Given the description of an element on the screen output the (x, y) to click on. 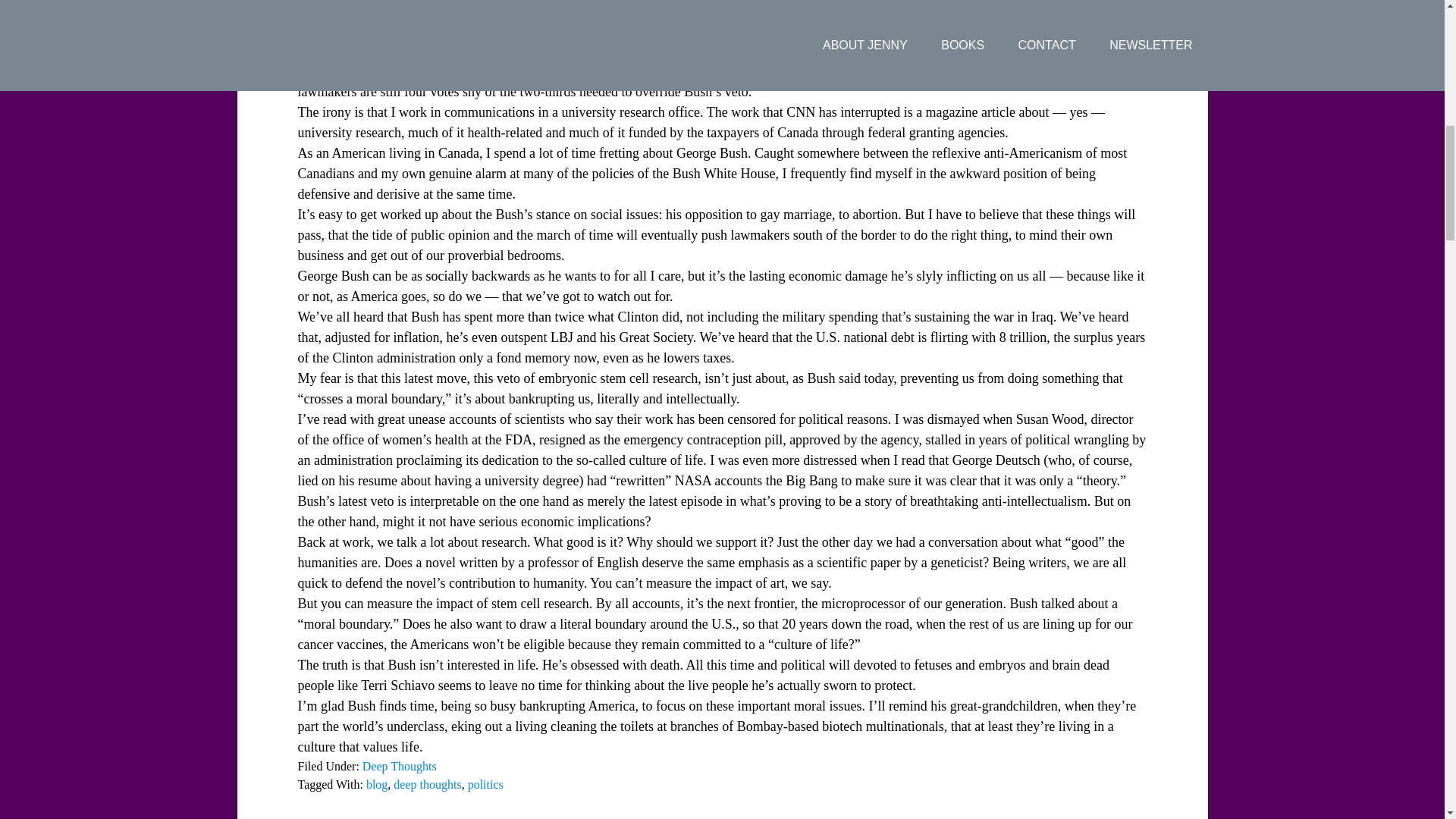
Jenny (395, 12)
blog (376, 784)
Deep Thoughts (399, 766)
politics (485, 784)
deep thoughts (427, 784)
